Given the description of an element on the screen output the (x, y) to click on. 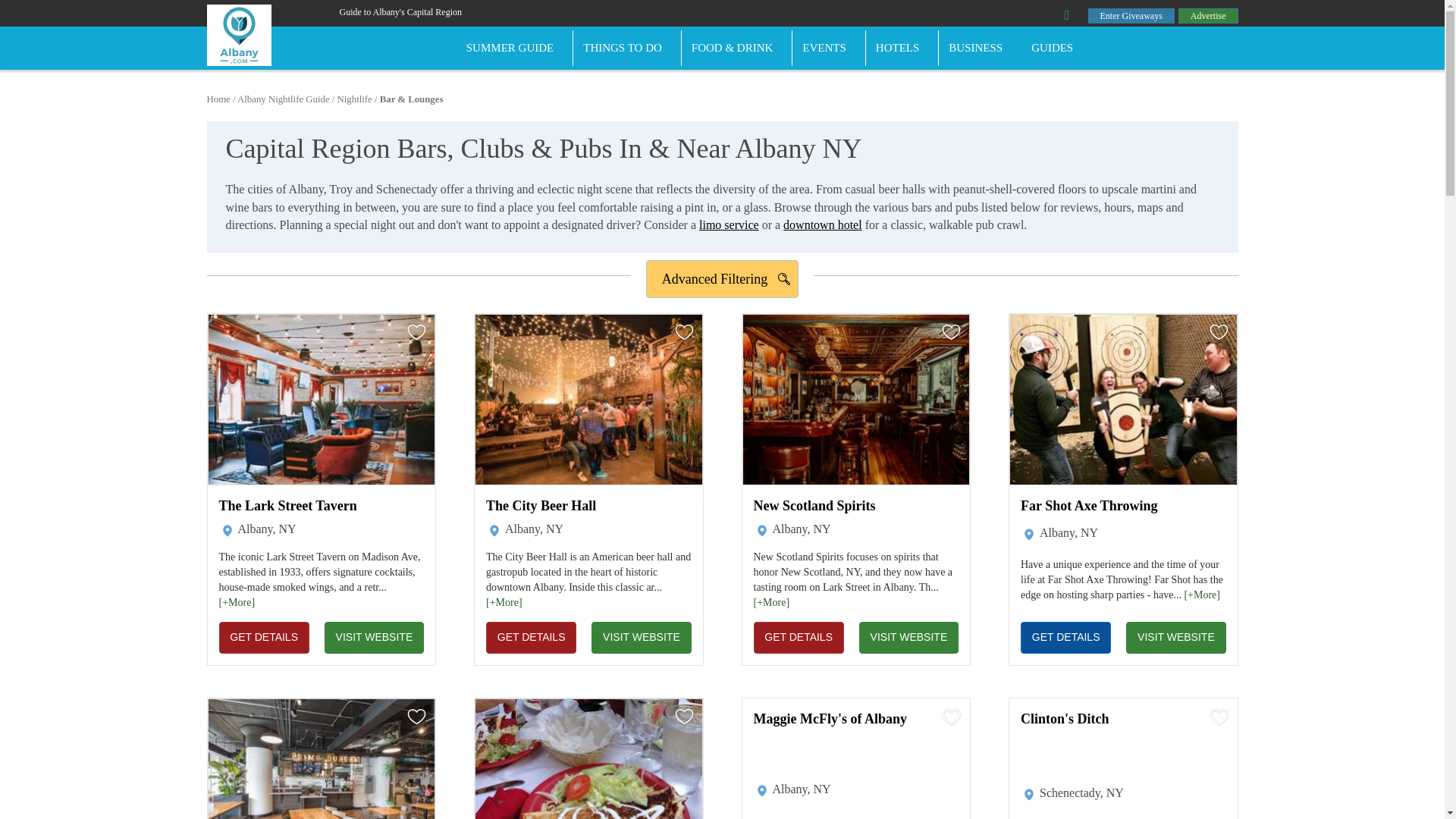
Enter Giveaways (1130, 14)
Add To My Planner (683, 716)
Add To My Planner (416, 716)
Add To My Planner (1219, 331)
THINGS TO DO (627, 48)
Advertise (1208, 14)
Add To My Planner (951, 716)
SUMMER GUIDE (515, 48)
Add To My Planner (951, 331)
Add To My Planner (683, 331)
Add To My Planner (1219, 716)
Add To My Planner (416, 331)
